Given the description of an element on the screen output the (x, y) to click on. 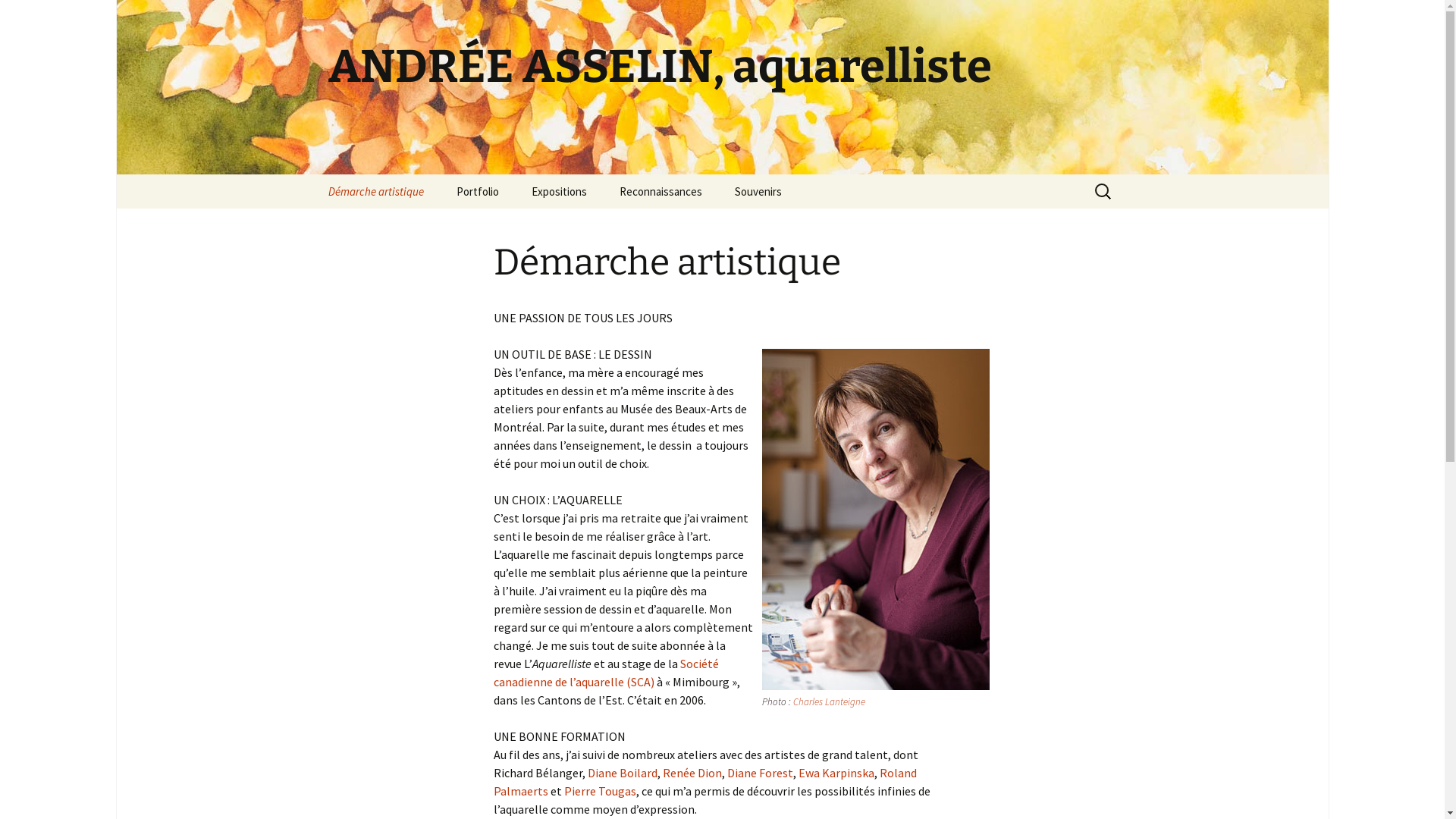
Diane Boilard Element type: text (621, 772)
Aller au contenu principal Element type: text (312, 173)
Pierre Tougas Element type: text (600, 790)
Souvenirs Element type: text (757, 191)
Roland Palmaerts Element type: text (704, 781)
Rechercher Element type: text (18, 16)
Ewa Karpinska Element type: text (835, 772)
Charles Lanteigne Element type: text (829, 701)
Reconnaissances Element type: text (659, 191)
Diane Forest Element type: text (759, 772)
Expositions Element type: text (558, 191)
Portfolio Element type: text (477, 191)
